Given the description of an element on the screen output the (x, y) to click on. 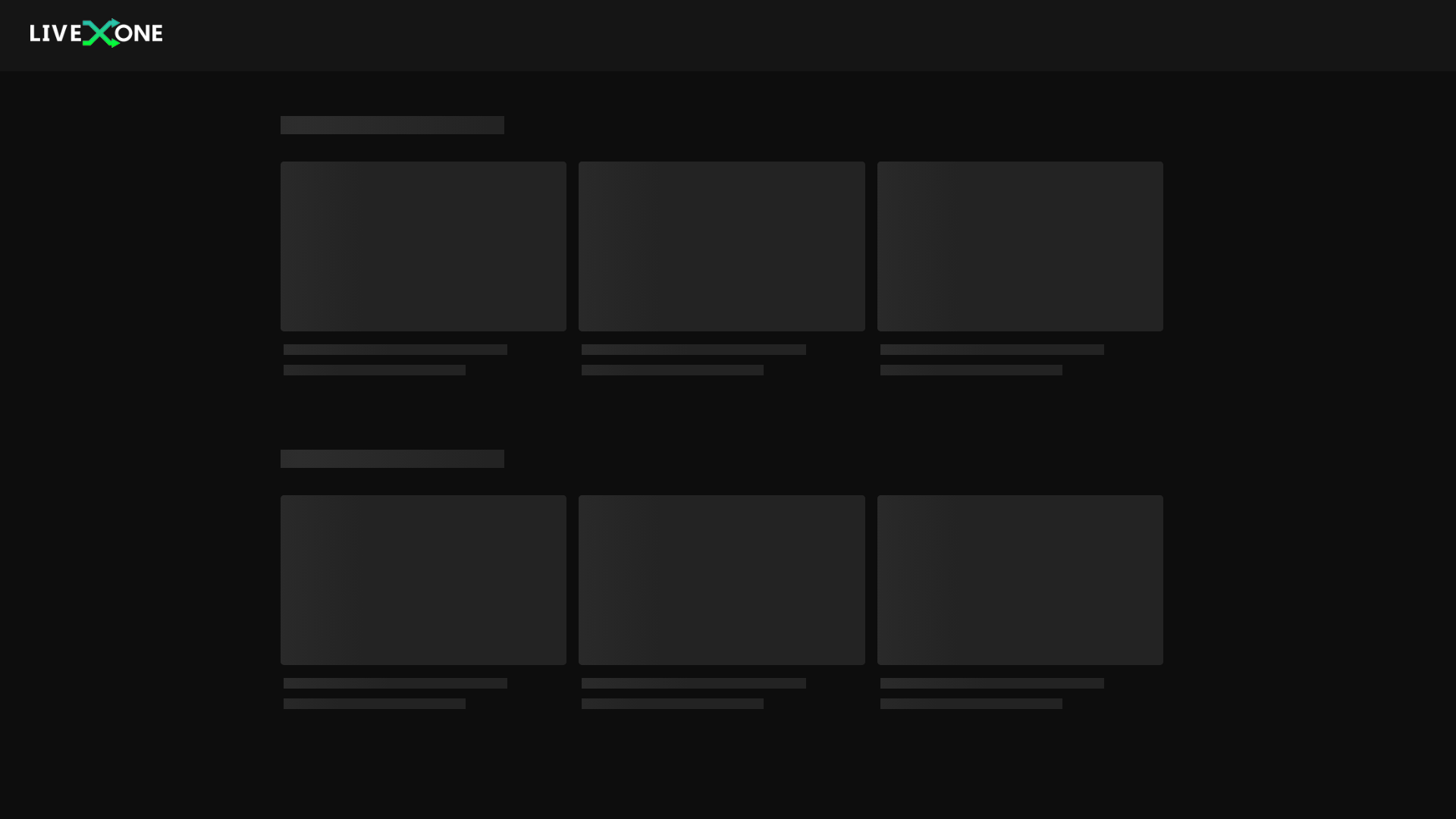
LiveOne on Instagram (1072, 781)
LiveOne on YouTube (1120, 781)
LiveOne on Facebook (1167, 781)
LiveOne on TikTok (1096, 781)
LiveOne on X (1144, 781)
